Given the description of an element on the screen output the (x, y) to click on. 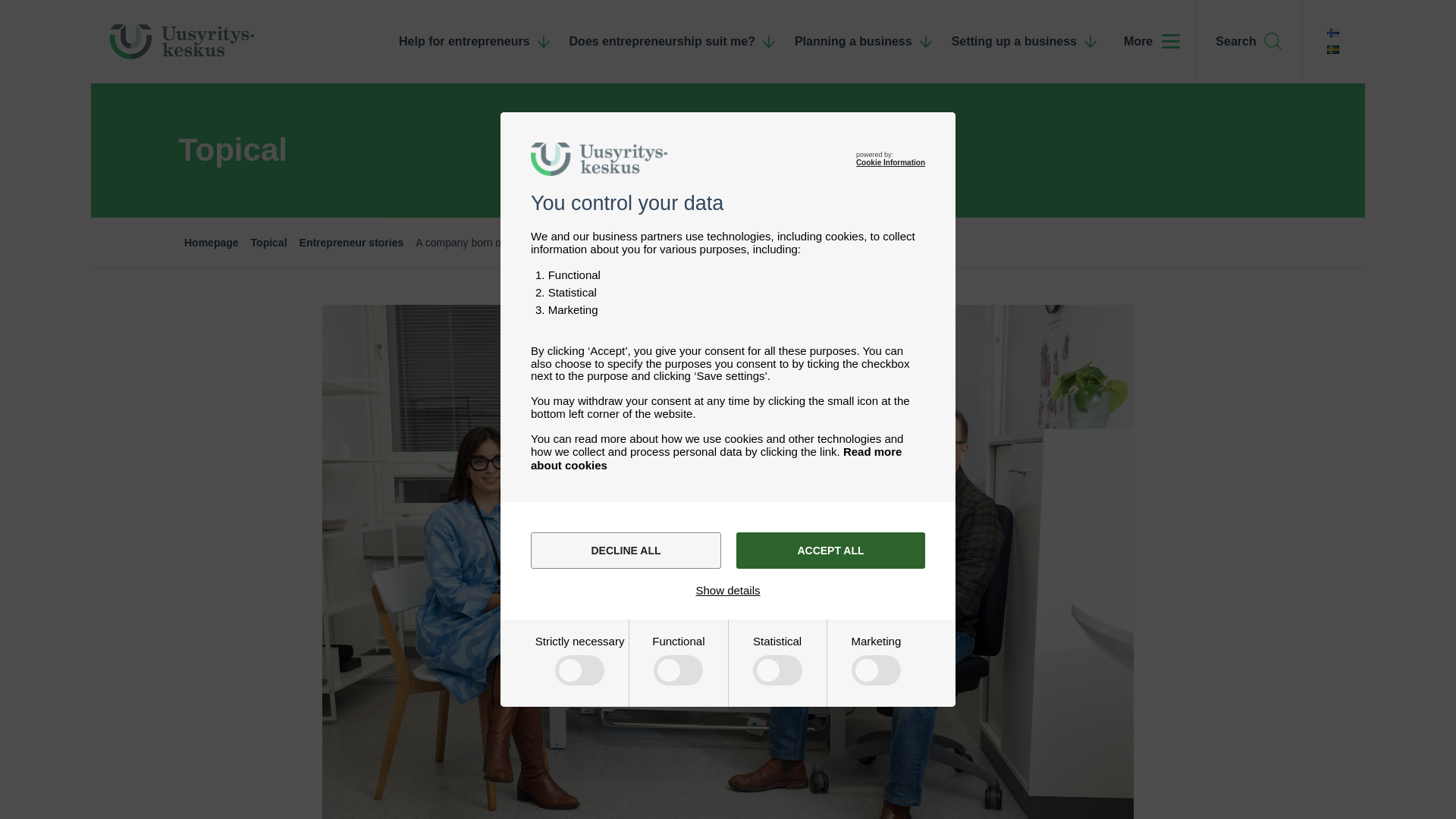
Cookie Information (890, 162)
ACCEPT ALL (830, 550)
Read more about cookies (716, 458)
Show details (727, 590)
DECLINE ALL (625, 550)
